Given the description of an element on the screen output the (x, y) to click on. 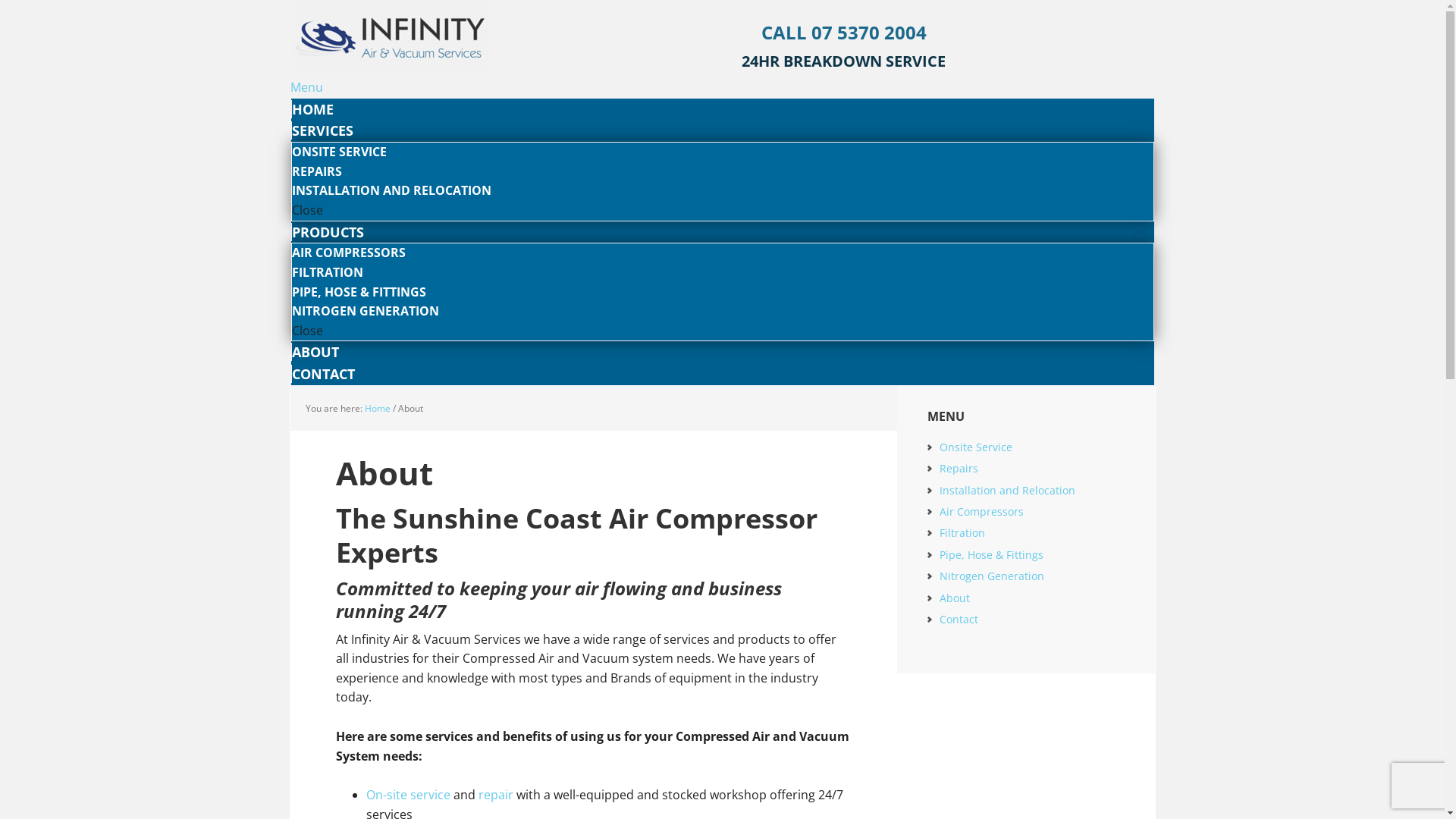
CONTACT Element type: text (322, 373)
NITROGEN GENERATION Element type: text (364, 310)
SERVICES Element type: text (322, 130)
Pipe, Hose & Fittings Element type: text (990, 554)
Nitrogen Generation Element type: text (990, 575)
AIR COMPRESSORS Element type: text (347, 252)
Filtration Element type: text (961, 532)
Infinity Air & Vacuum Services Element type: text (387, 37)
HOME Element type: text (312, 109)
CALL 07 5370 2004 Element type: text (843, 31)
Air Compressors Element type: text (980, 511)
Repairs Element type: text (957, 468)
PRODUCTS Element type: text (327, 231)
ABOUT Element type: text (314, 351)
INSTALLATION AND RELOCATION Element type: text (390, 190)
PIPE, HOSE & FITTINGS Element type: text (358, 291)
About Element type: text (953, 597)
Onsite Service Element type: text (974, 446)
Installation and Relocation Element type: text (1006, 490)
Home Element type: text (376, 407)
On-site service Element type: text (407, 794)
repair Element type: text (494, 794)
Menu Element type: text (305, 86)
ONSITE SERVICE Element type: text (338, 151)
Contact Element type: text (957, 618)
REPAIRS Element type: text (316, 171)
FILTRATION Element type: text (326, 271)
